Given the description of an element on the screen output the (x, y) to click on. 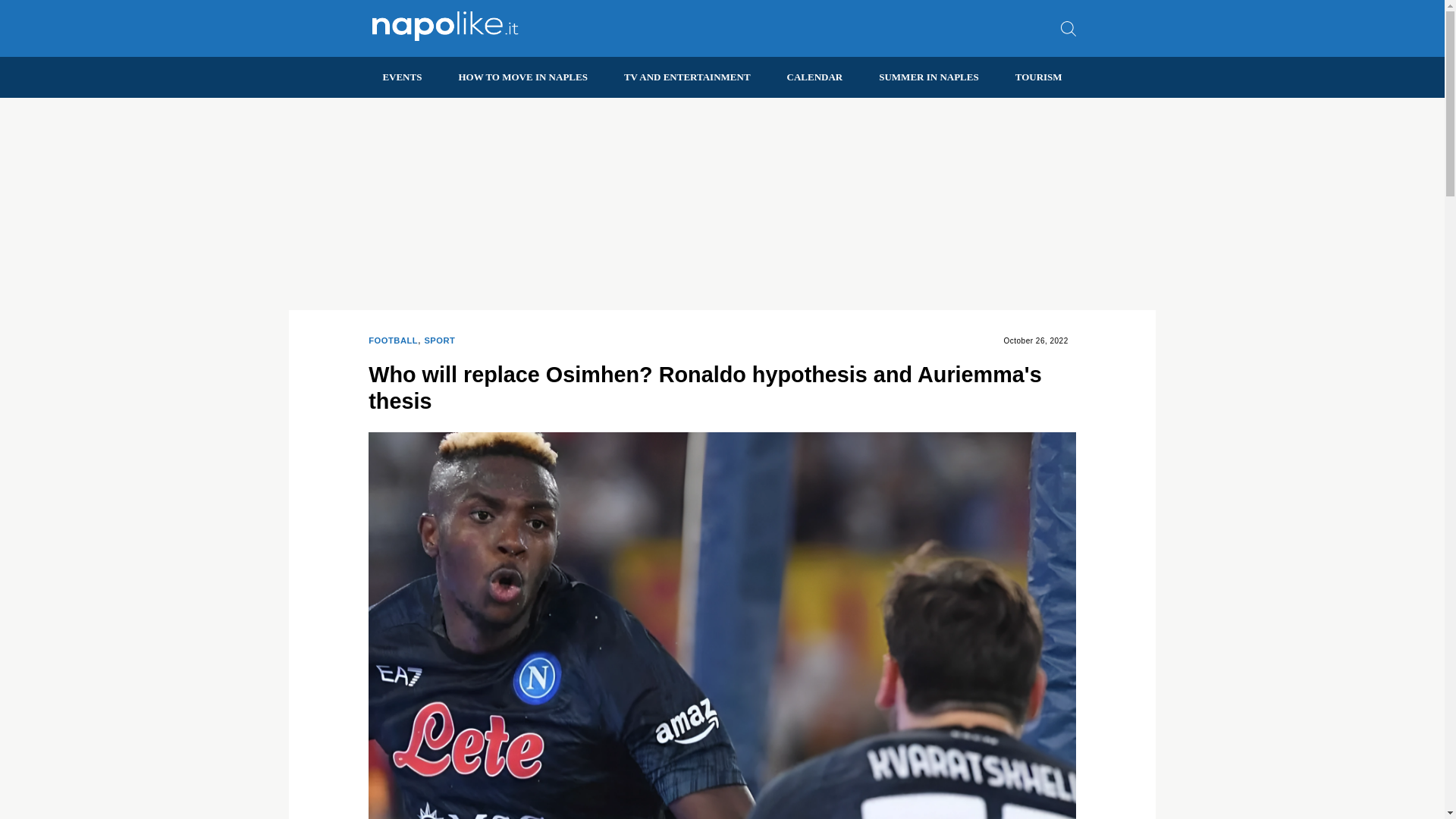
SPORT (438, 340)
EVENTS (401, 76)
FOOTBALL (392, 340)
HOW TO MOVE IN NAPLES (522, 76)
TOURISM (1038, 76)
SUMMER IN NAPLES (927, 76)
TV AND ENTERTAINMENT (686, 76)
CALENDAR (814, 76)
